Given the description of an element on the screen output the (x, y) to click on. 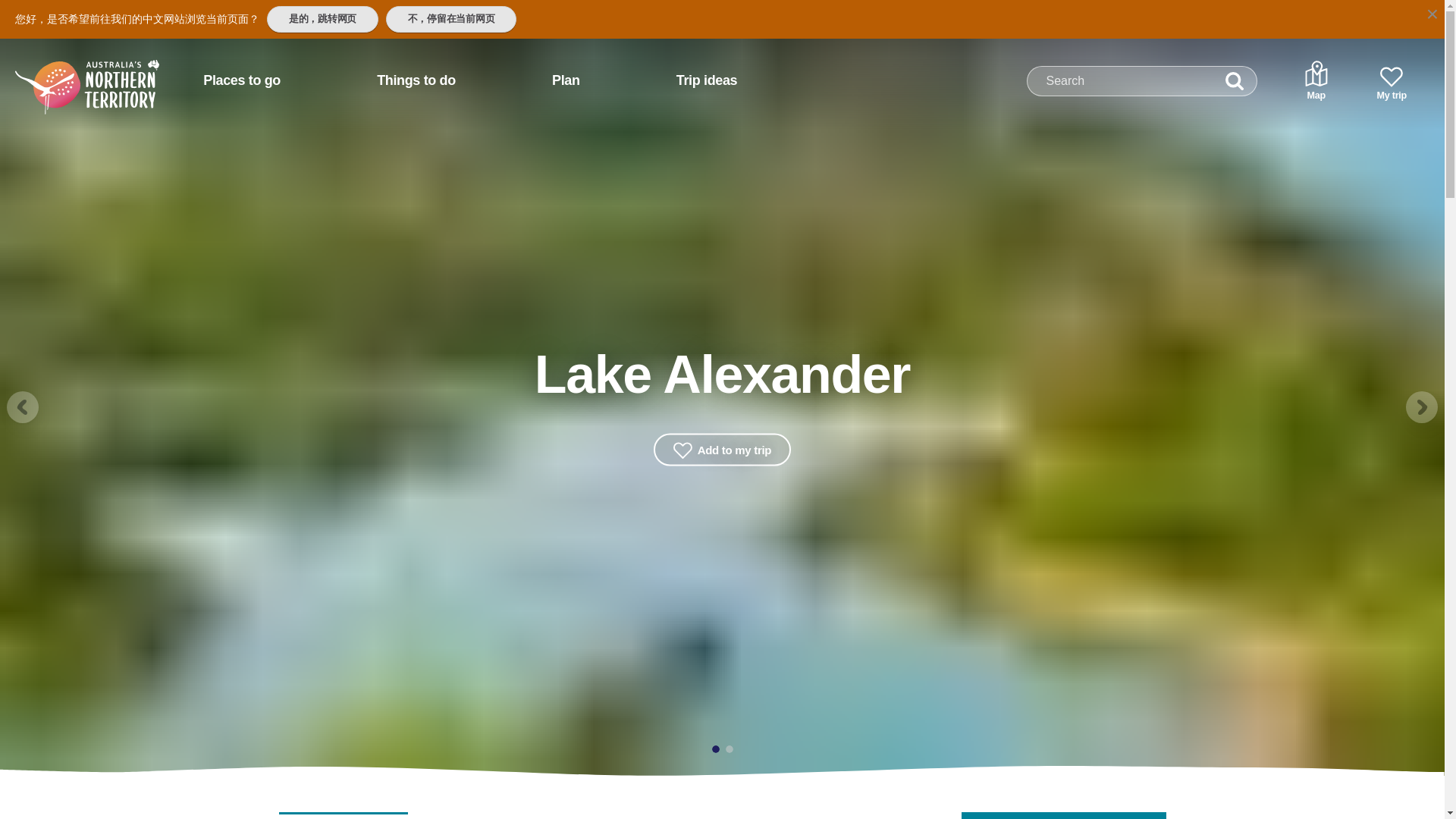
Home (67, 73)
Search (1234, 81)
Places to go (241, 80)
Things to do (416, 80)
